Given the description of an element on the screen output the (x, y) to click on. 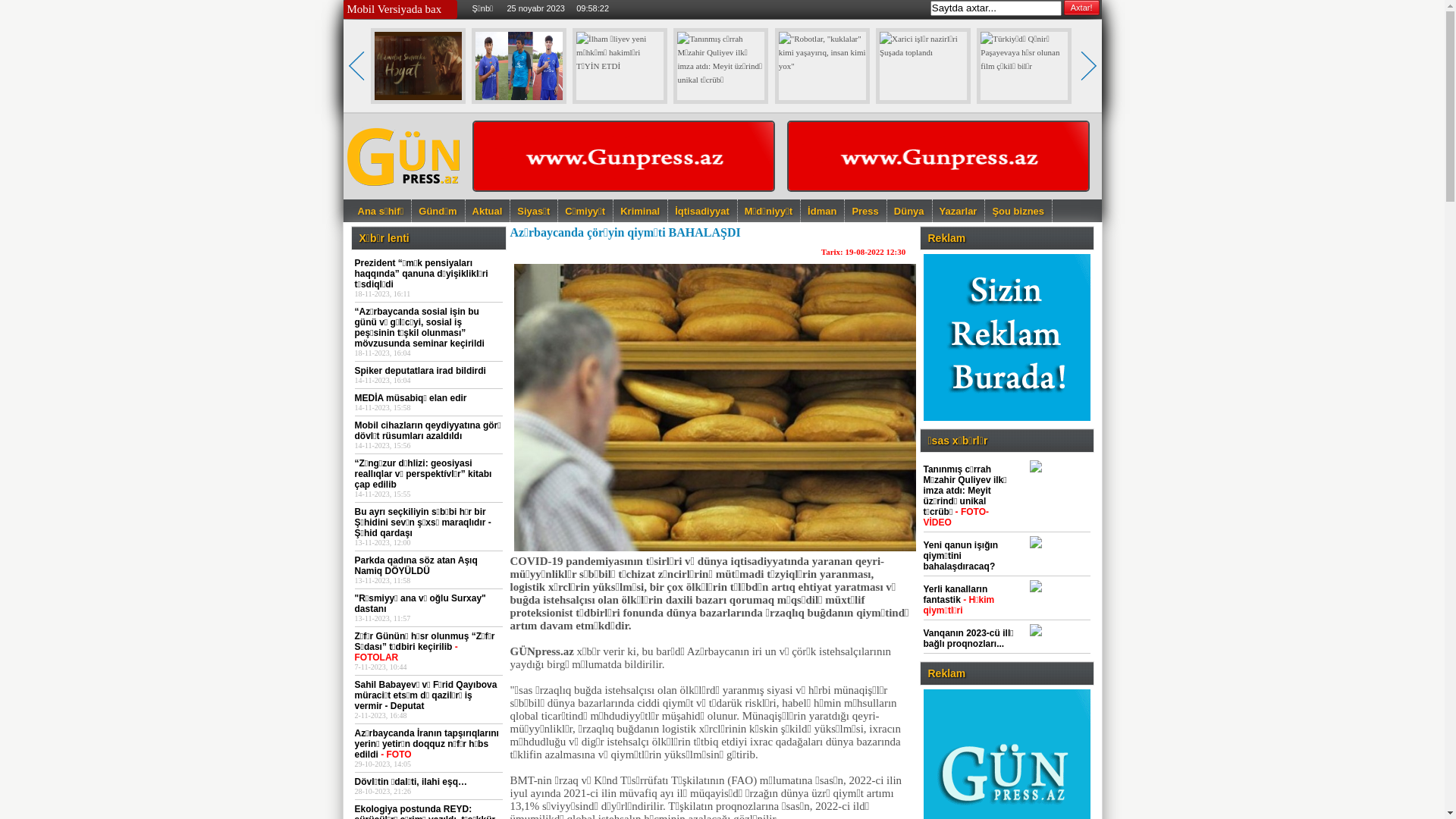
Axtar! Element type: text (1081, 7)
Press Element type: text (865, 210)
Kriminal Element type: text (640, 210)
Saytda axtar... Element type: hover (995, 7)
Aktual Element type: text (488, 210)
Spiker deputatlara irad bildirdi Element type: text (420, 370)
Yazarlar Element type: text (958, 210)
Mobil Versiyada bax Element type: text (394, 9)
